Given the description of an element on the screen output the (x, y) to click on. 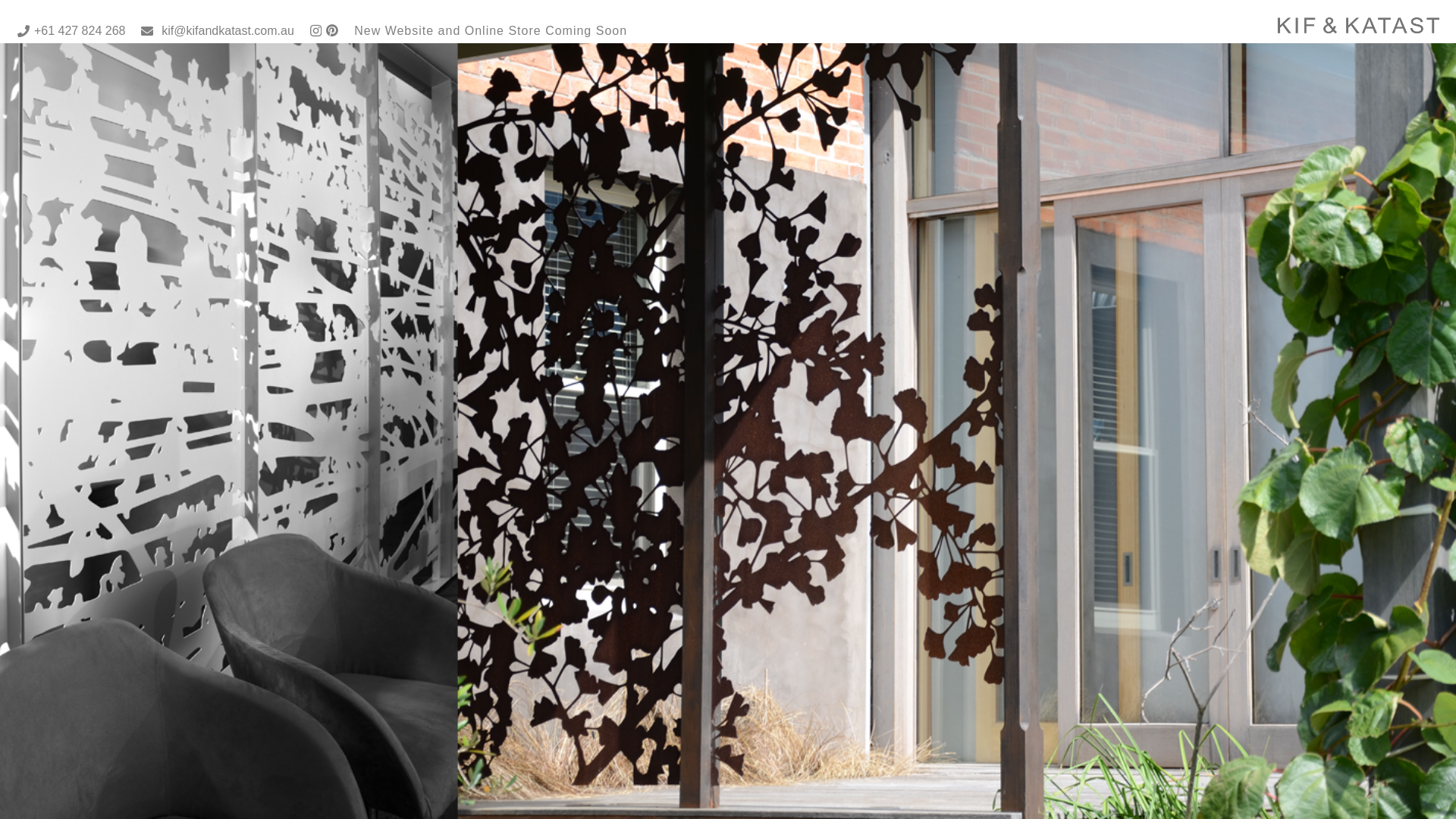
kif@kifandkatast.com.au Element type: text (217, 30)
Instagram Element type: hover (315, 30)
Pinterest Element type: hover (332, 30)
+61 427 824 268 Element type: text (70, 30)
